Given the description of an element on the screen output the (x, y) to click on. 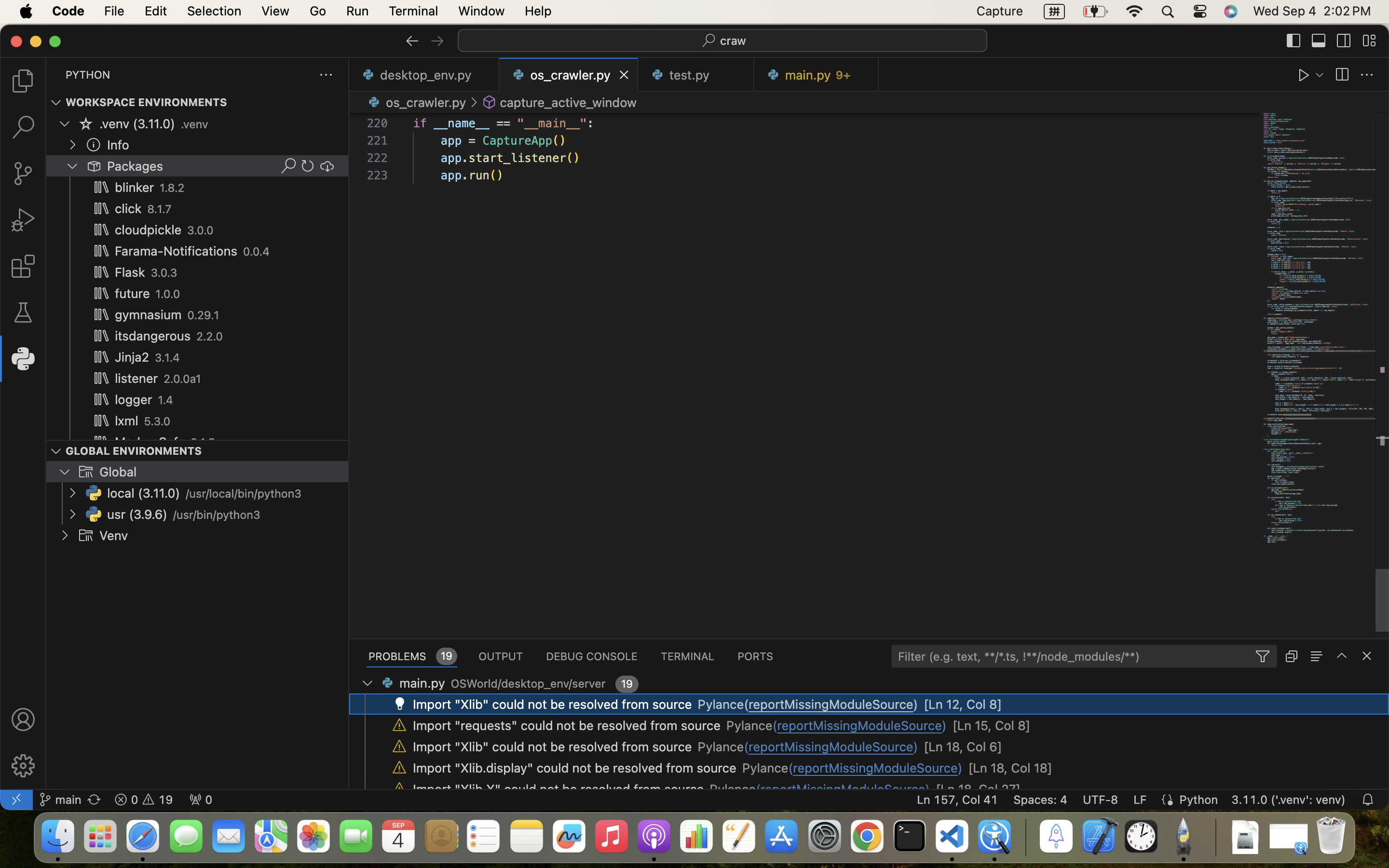
.venv Element type: AXStaticText (194, 124)
GLOBAL ENVIRONMENTS Element type: AXStaticText (133, 450)
 Element type: AXStaticText (55, 451)
3.0.3 Element type: AXStaticText (163, 272)
 Element type: AXStaticText (93, 144)
